Given the description of an element on the screen output the (x, y) to click on. 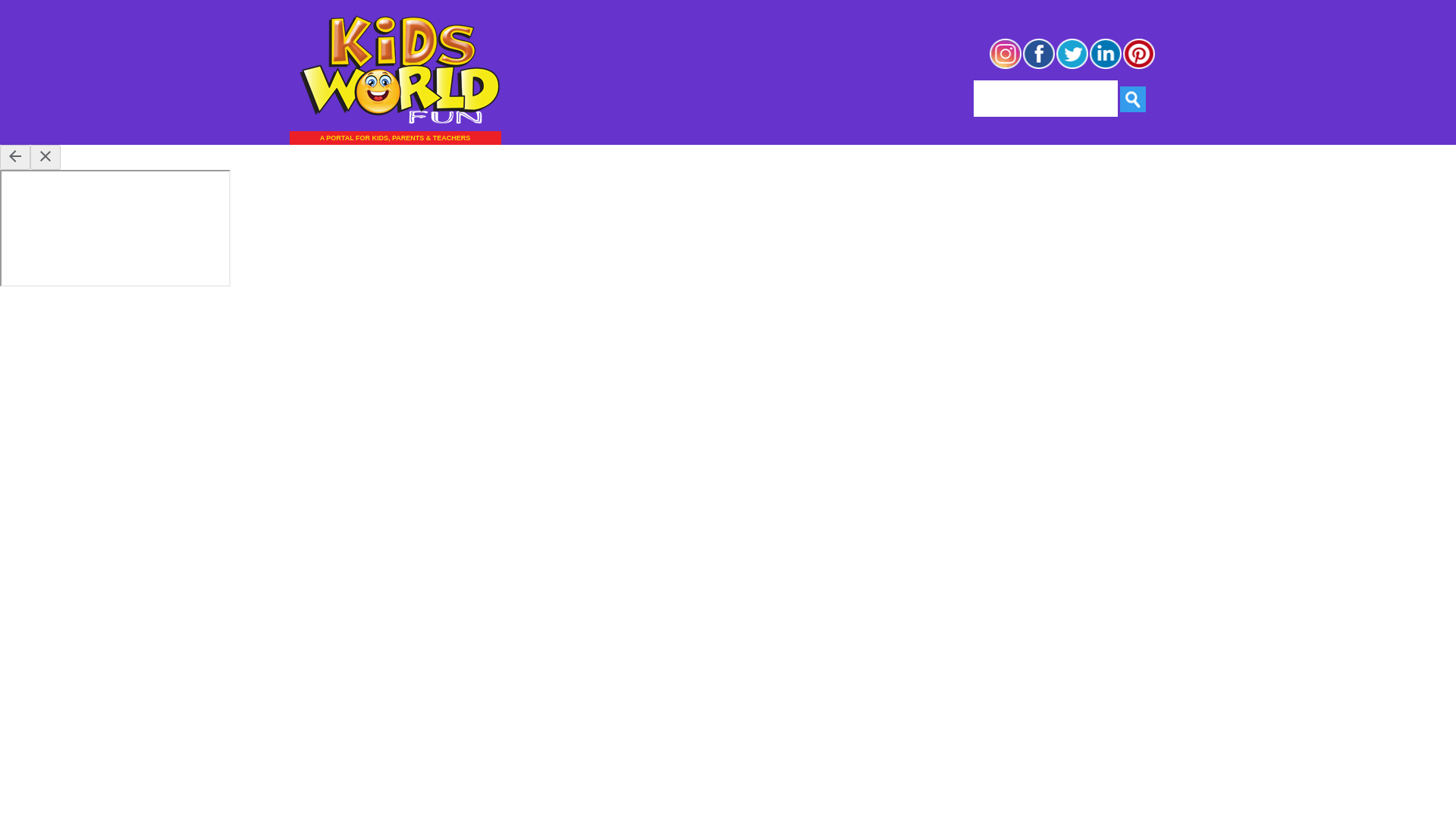
Follow Us On LinkedIn (1105, 66)
Follow Us On Twitter (1072, 66)
Search (1132, 99)
Follow Us On Facebook (1038, 66)
Follow Us On Instagram (1005, 66)
Follow Us On Pinterest (1139, 66)
Search (1132, 99)
